Given the description of an element on the screen output the (x, y) to click on. 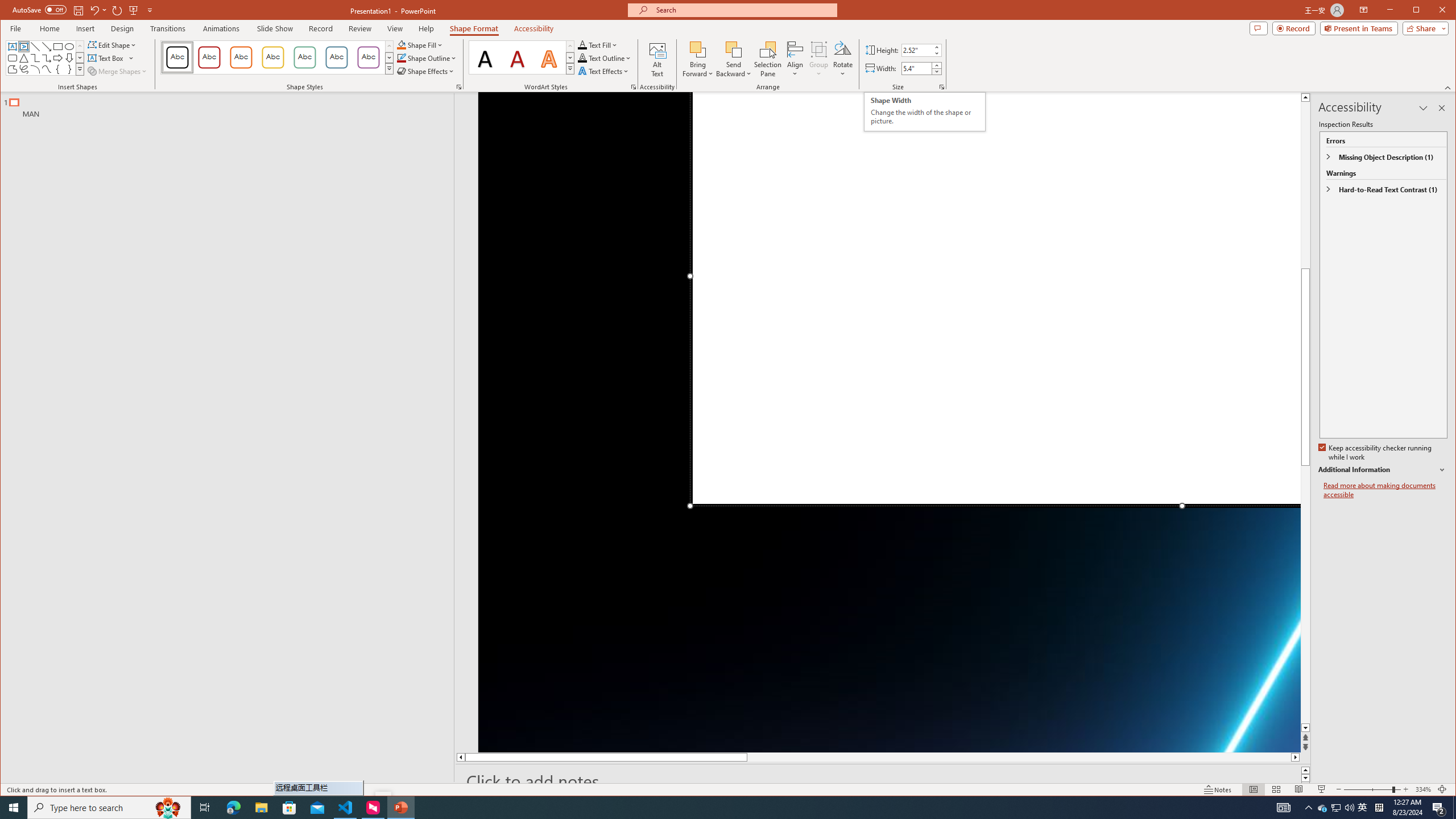
Text Fill (598, 44)
AutomationID: TextStylesGallery (521, 57)
Format Text Effects... (632, 86)
